Given the description of an element on the screen output the (x, y) to click on. 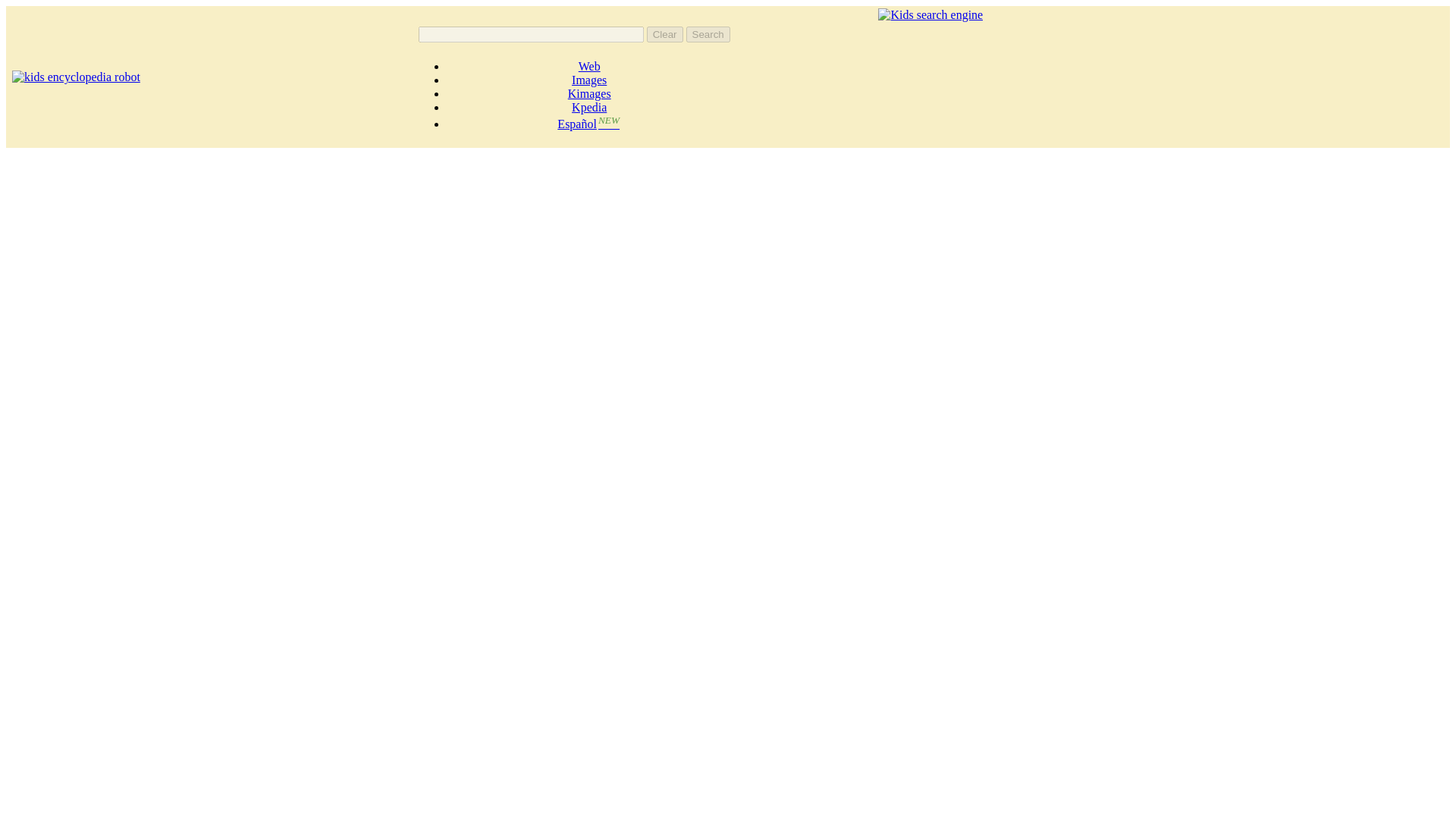
Images (589, 79)
Kimages (589, 92)
Kpedia (589, 106)
Search (707, 34)
Web (588, 65)
Clear (664, 34)
